Given the description of an element on the screen output the (x, y) to click on. 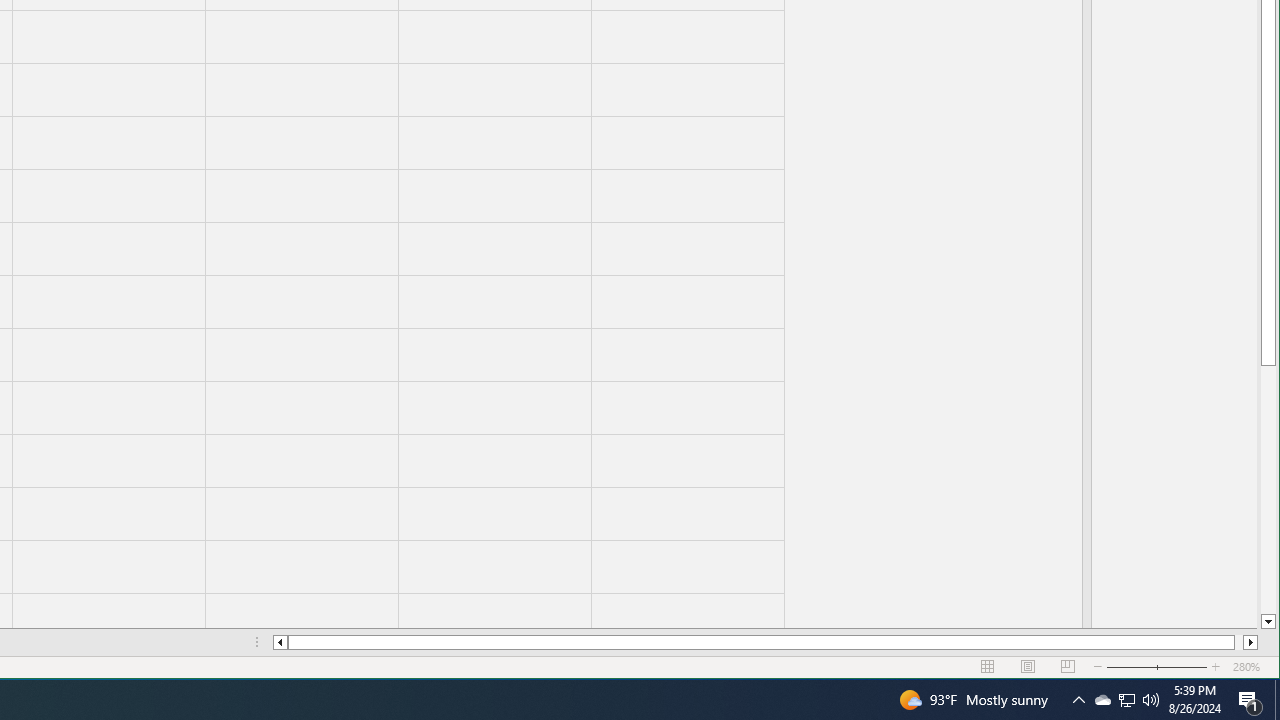
Show desktop (1277, 699)
Notification Chevron (1078, 699)
